Given the description of an element on the screen output the (x, y) to click on. 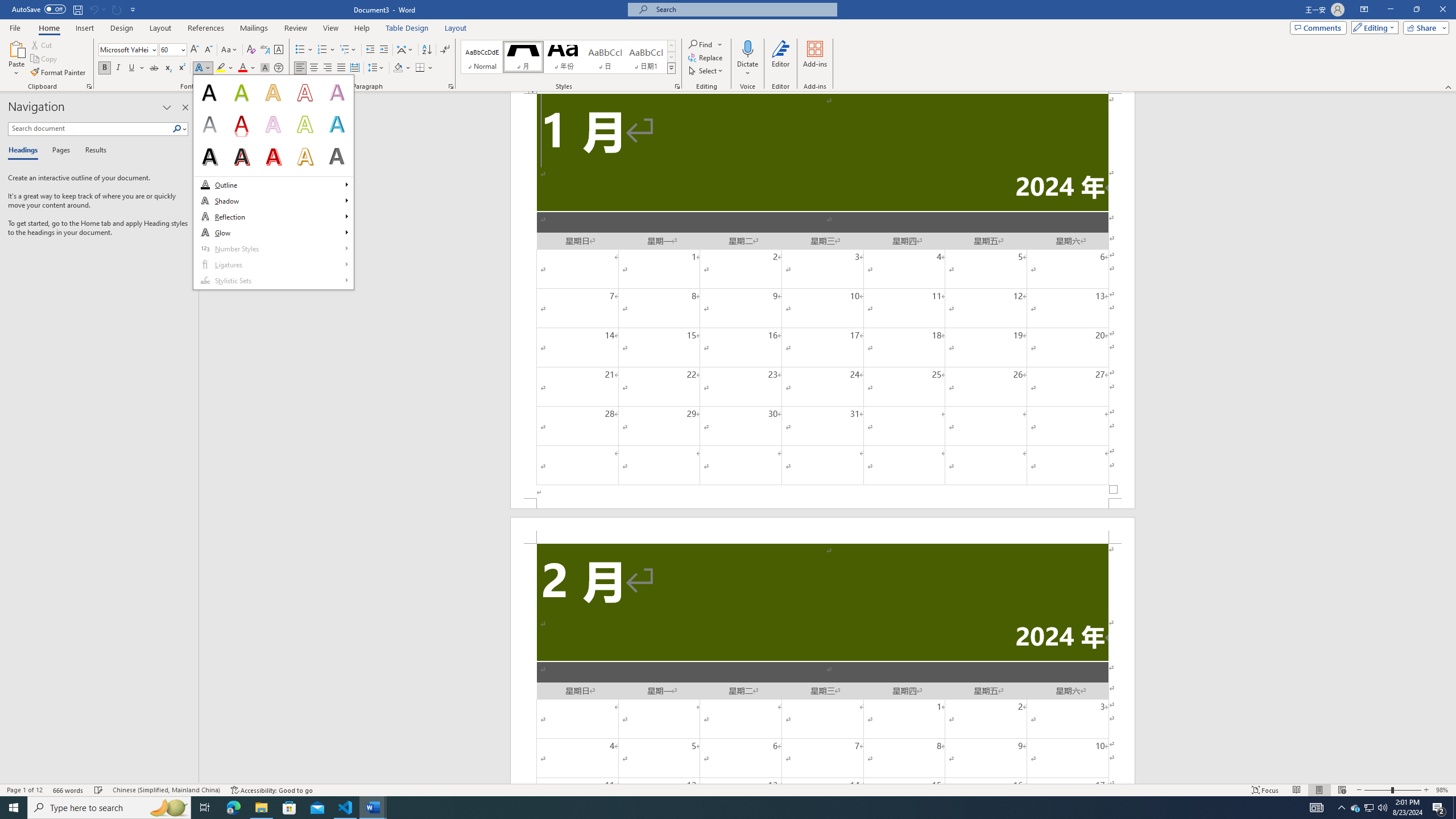
Running applications (717, 807)
Can't Undo (92, 9)
